Given the description of an element on the screen output the (x, y) to click on. 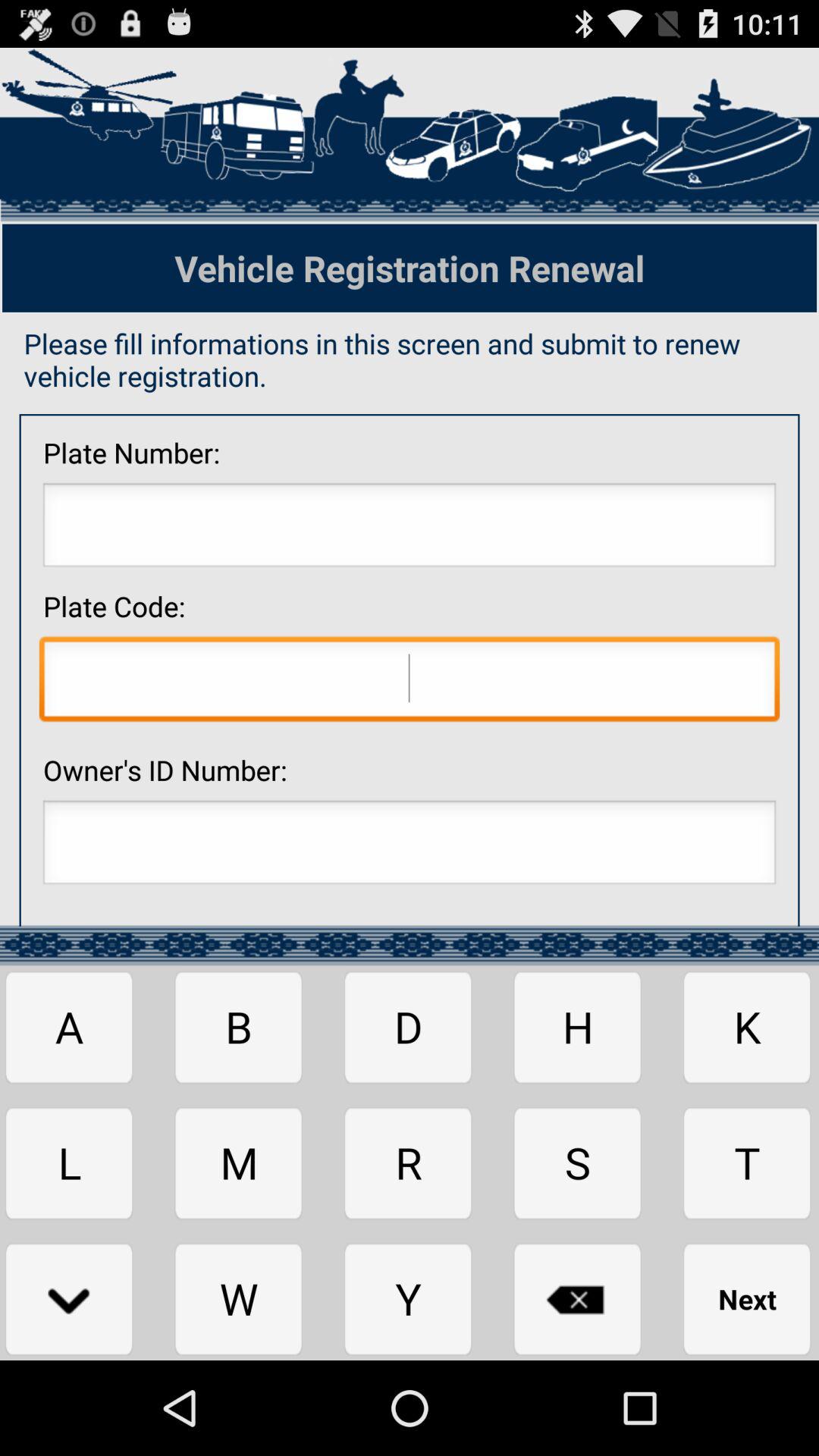
zip code (409, 682)
